Given the description of an element on the screen output the (x, y) to click on. 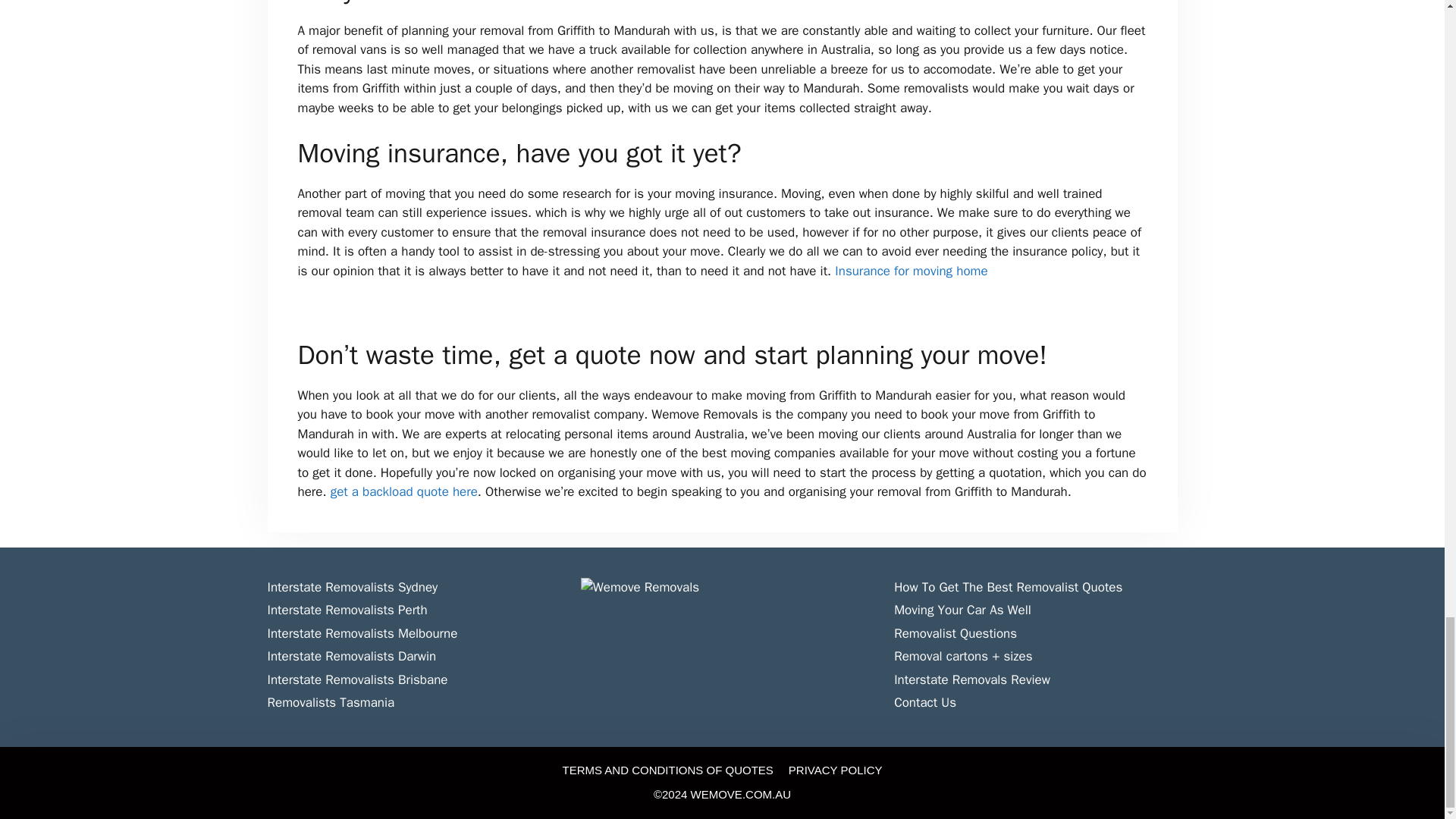
Interstate Removalists Sydney (352, 587)
Interstate Removalists Melbourne (361, 633)
TERMS AND CONDITIONS OF QUOTES (667, 769)
PRIVACY POLICY (835, 769)
Contact Us (924, 702)
Insurance for moving home (910, 270)
Moving Your Car As Well (961, 609)
Removalists Tasmania (330, 702)
Interstate Removals Review (971, 679)
Removalist Questions (954, 633)
How To Get The Best Removalist Quotes (1007, 587)
Interstate Removalists Darwin (350, 656)
Interstate Removalists Perth (346, 609)
Interstate Removalists Brisbane (356, 679)
get a backload quote here (403, 491)
